Given the description of an element on the screen output the (x, y) to click on. 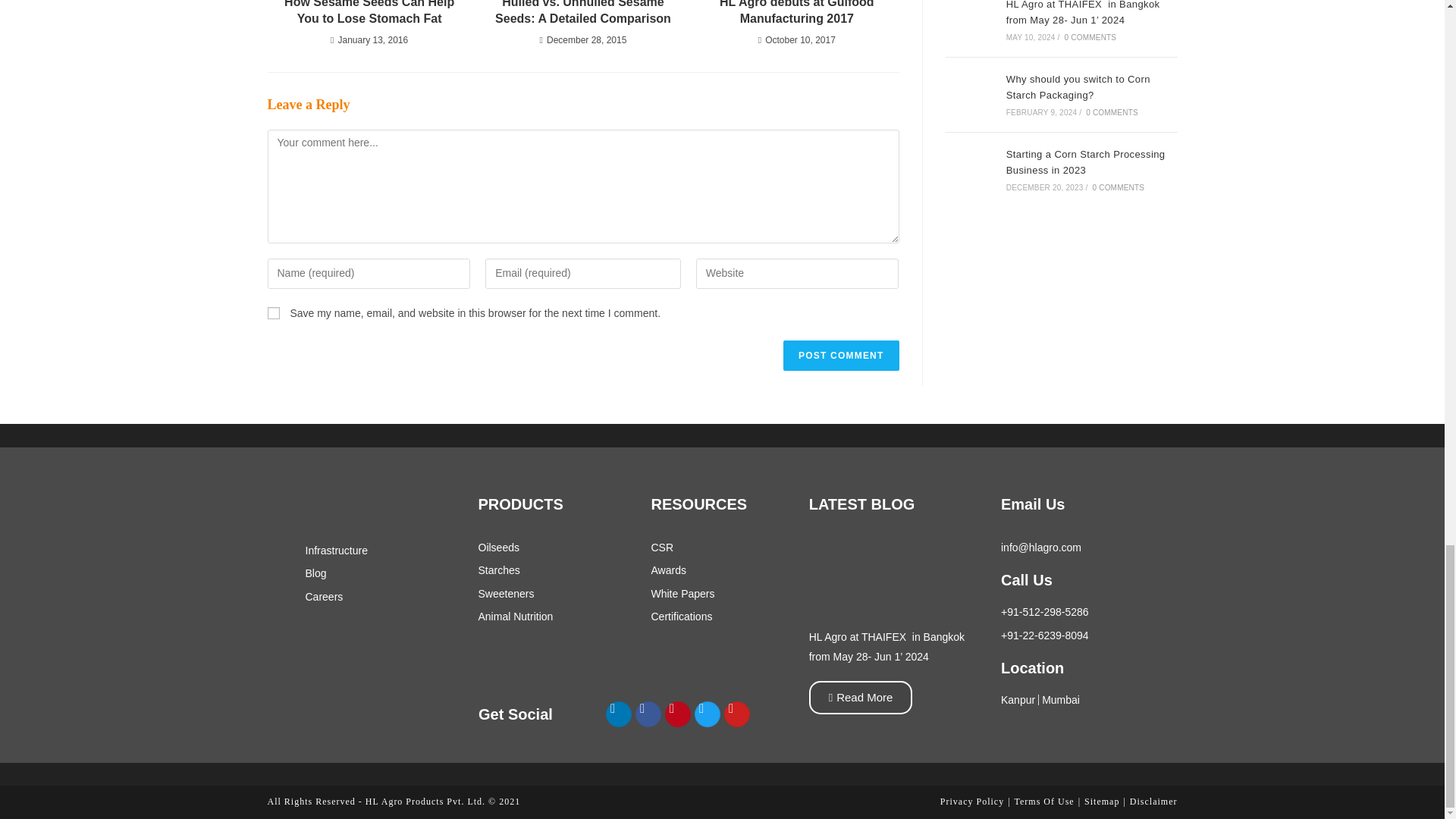
yes (272, 313)
Post Comment (840, 355)
Why should you switch to Corn Starch Packaging? (969, 94)
Starting a Corn Starch Processing Business in 2023 (969, 169)
